Given the description of an element on the screen output the (x, y) to click on. 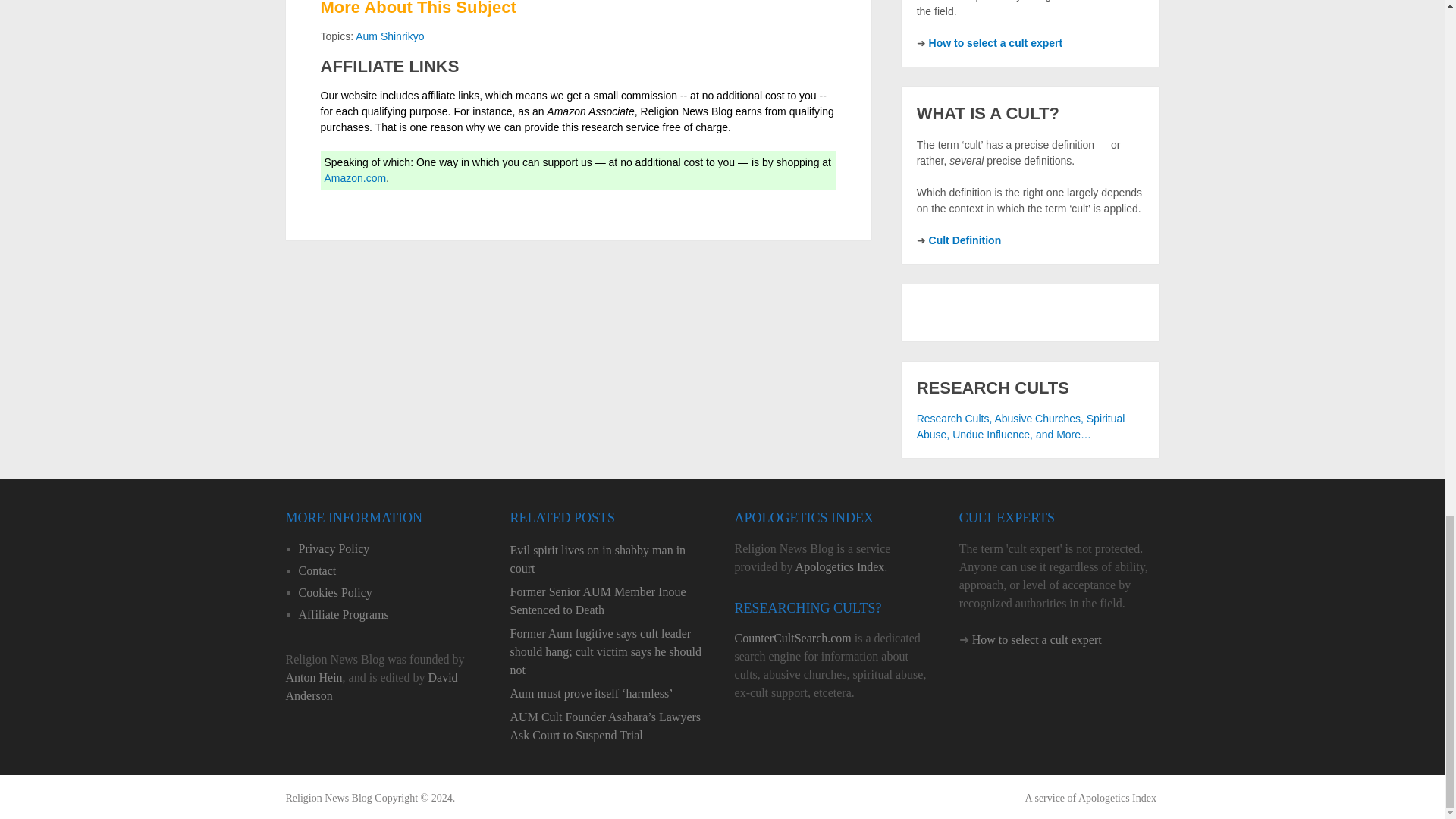
Amazon.com (355, 177)
How to select a cult expert (995, 42)
Evil spirit lives on in shabby man in court (610, 559)
Aum Shinrikyo (389, 36)
 Religion news: religious cults, sects, and world religions (328, 797)
Former Senior AUM Member Inoue Sentenced to Death (610, 601)
